Given the description of an element on the screen output the (x, y) to click on. 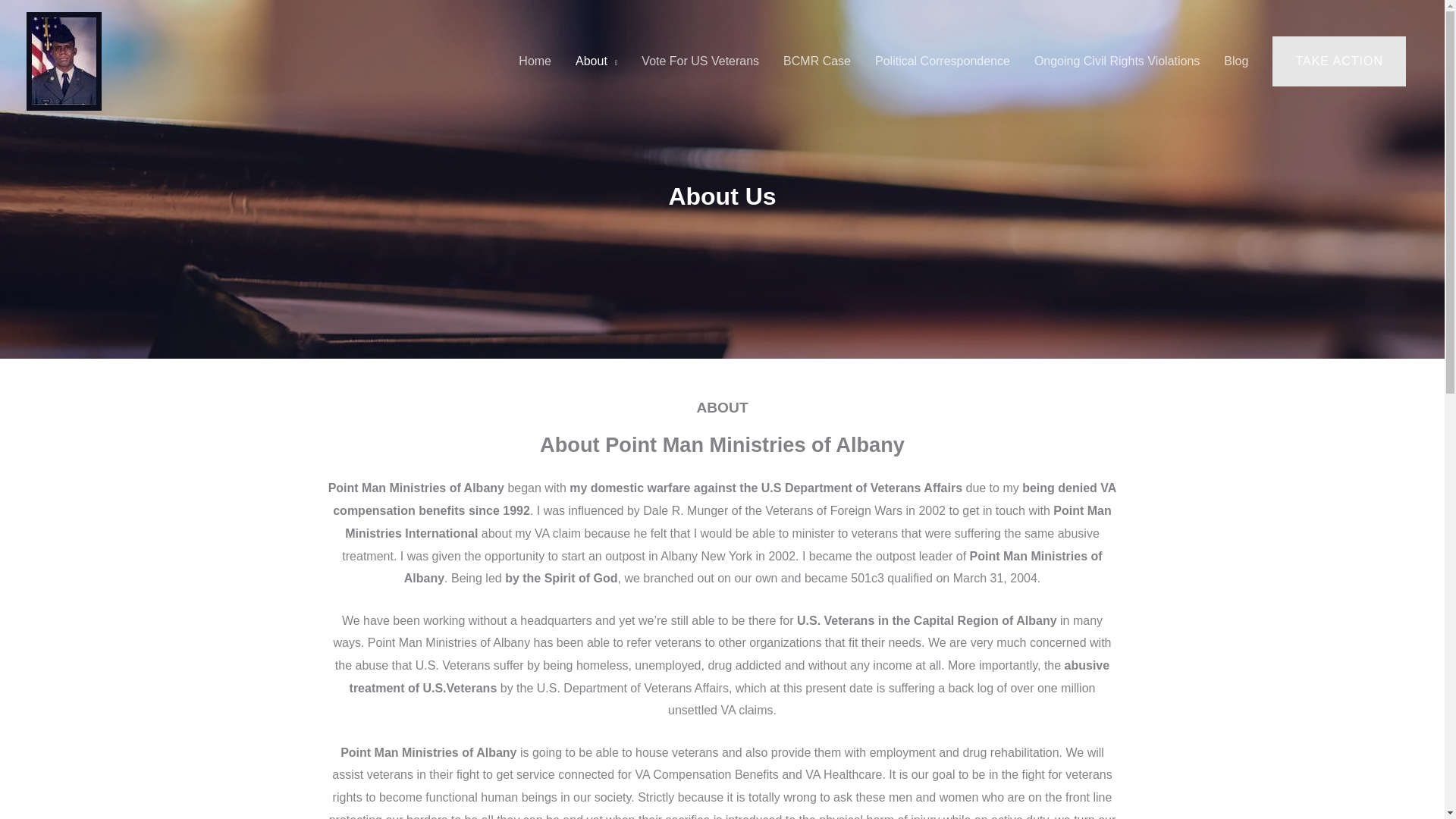
BCMR Case (817, 61)
About (595, 61)
Blog (1235, 61)
Vote For US Veterans (699, 61)
TAKE ACTION (1339, 61)
Ongoing Civil Rights Violations (1116, 61)
Political Correspondence (942, 61)
Home (534, 61)
